Given the description of an element on the screen output the (x, y) to click on. 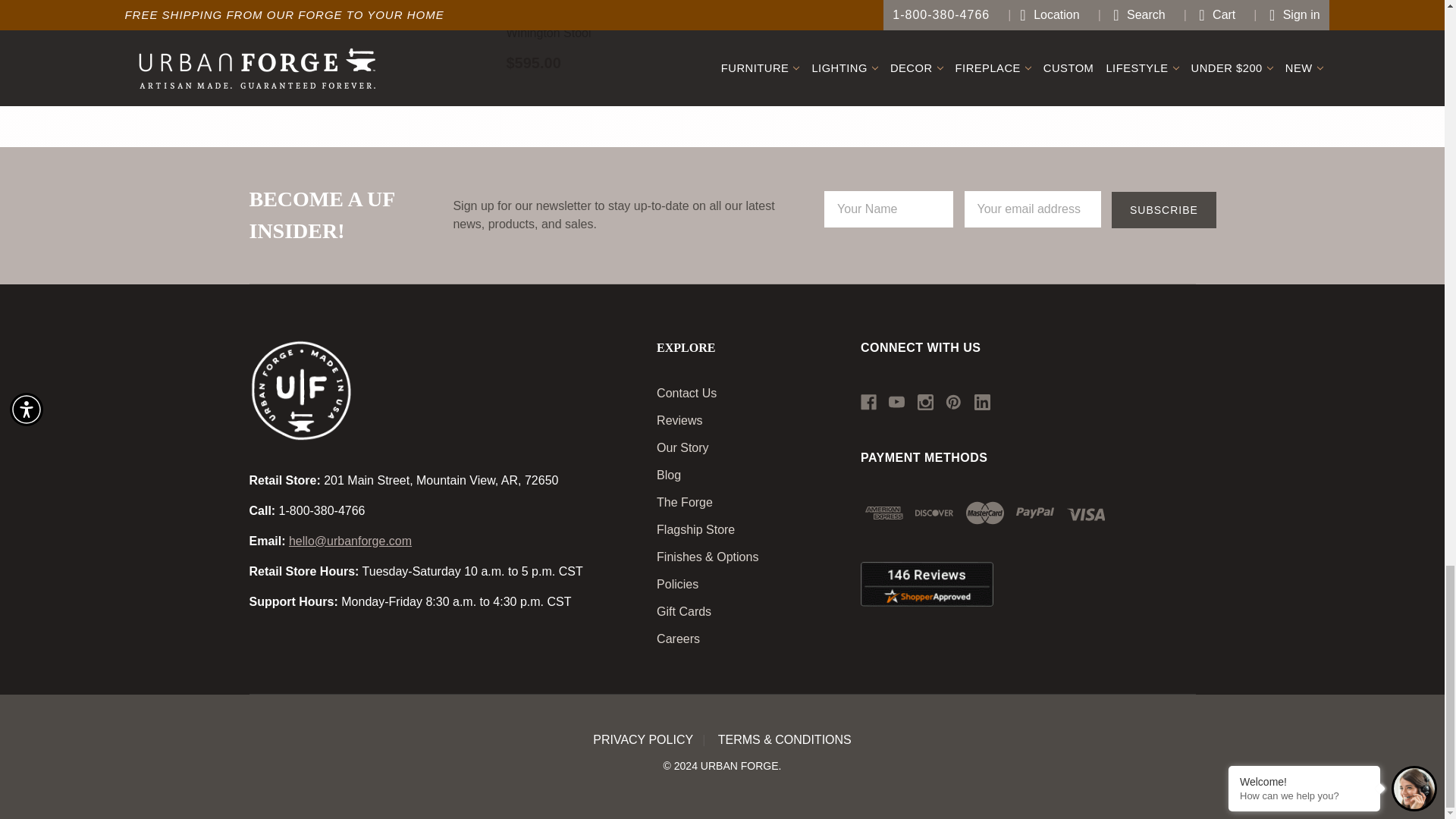
Subscribe (1163, 208)
